Given the description of an element on the screen output the (x, y) to click on. 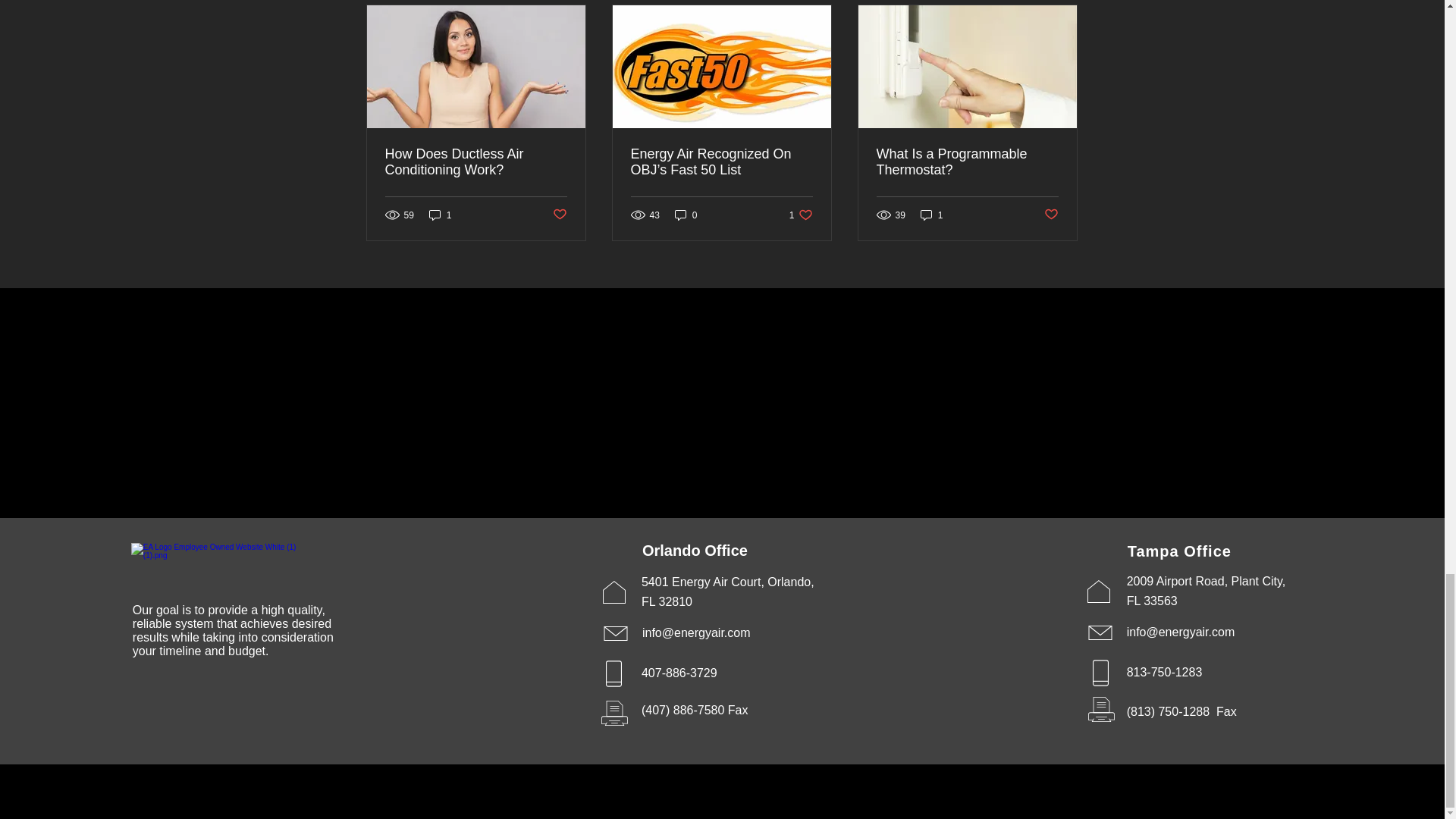
5401 Energy Air Court, Orlando, (727, 581)
1 (931, 214)
0 (685, 214)
1 (440, 214)
Post not marked as liked (1050, 214)
Orlando Office (695, 550)
Post not marked as liked (558, 214)
How Does Ductless Air Conditioning Work? (476, 162)
What Is a Programmable Thermostat? (800, 214)
